Given the description of an element on the screen output the (x, y) to click on. 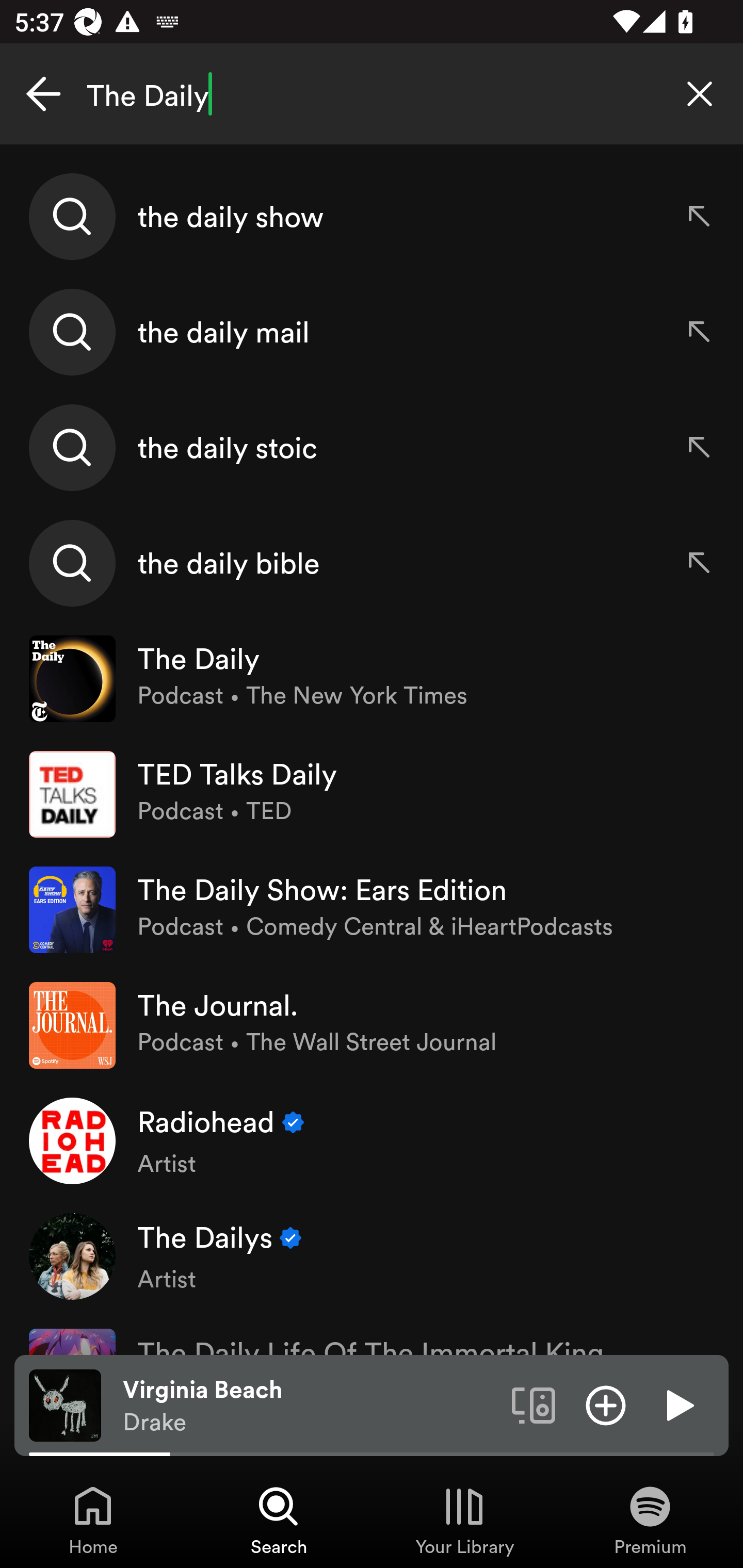
The Daily (371, 93)
Cancel (43, 93)
Clear search query (699, 93)
the daily show (371, 216)
the daily mail (371, 332)
the daily stoic (371, 447)
the daily bible (371, 562)
The Daily Podcast • The New York Times (371, 678)
TED Talks Daily Podcast • TED (371, 793)
The Journal. Podcast • The Wall Street Journal (371, 1025)
Radiohead Verified Artist (371, 1140)
The Dailys Verified Artist (371, 1255)
Virginia Beach Drake (309, 1405)
The cover art of the currently playing track (64, 1404)
Connect to a device. Opens the devices menu (533, 1404)
Add item (605, 1404)
Play (677, 1404)
Home, Tab 1 of 4 Home Home (92, 1519)
Search, Tab 2 of 4 Search Search (278, 1519)
Your Library, Tab 3 of 4 Your Library Your Library (464, 1519)
Premium, Tab 4 of 4 Premium Premium (650, 1519)
